Given the description of an element on the screen output the (x, y) to click on. 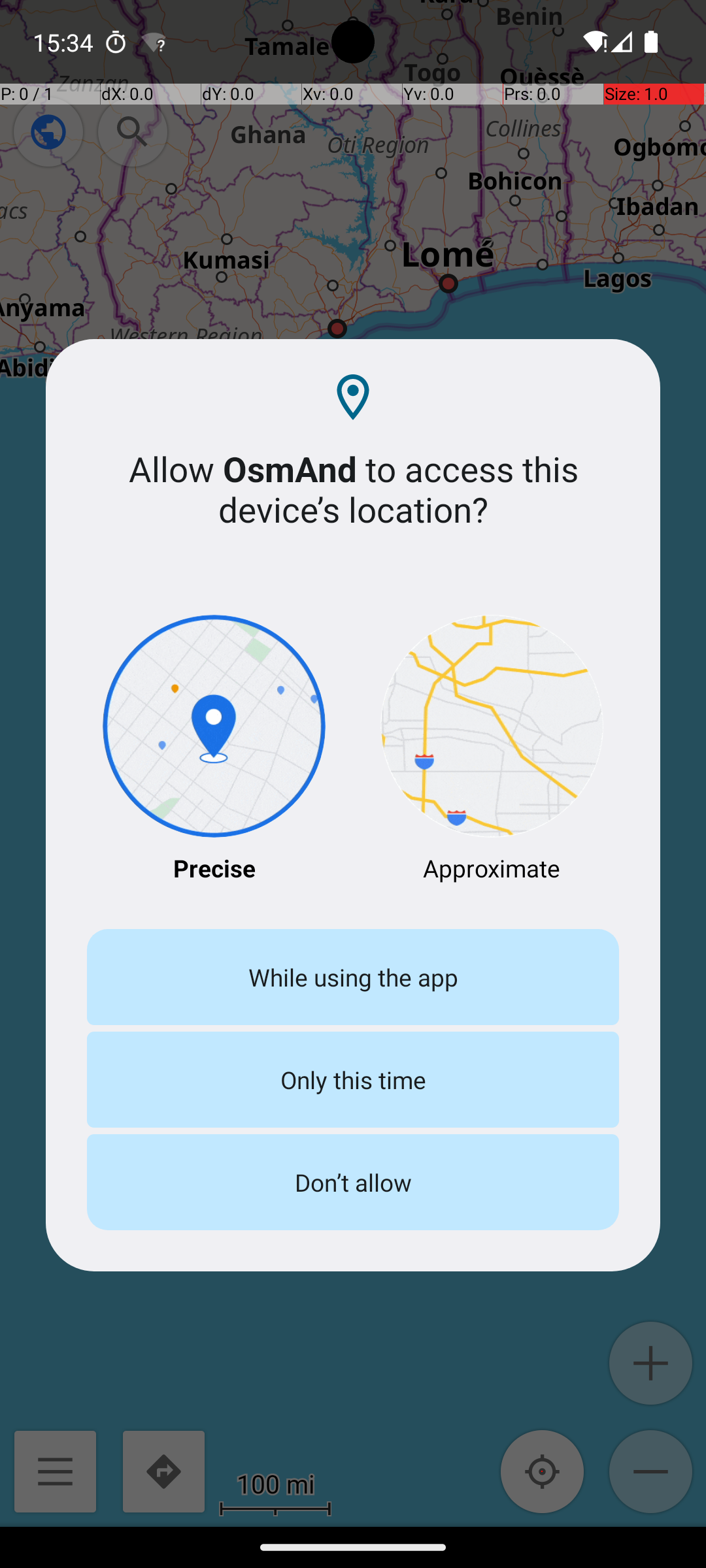
Allow OsmAnd to access this device’s location? Element type: android.widget.TextView (352, 488)
While using the app Element type: android.widget.Button (352, 977)
Only this time Element type: android.widget.Button (352, 1079)
Precise Element type: android.widget.RadioButton (213, 749)
Approximate Element type: android.widget.RadioButton (491, 749)
